Given the description of an element on the screen output the (x, y) to click on. 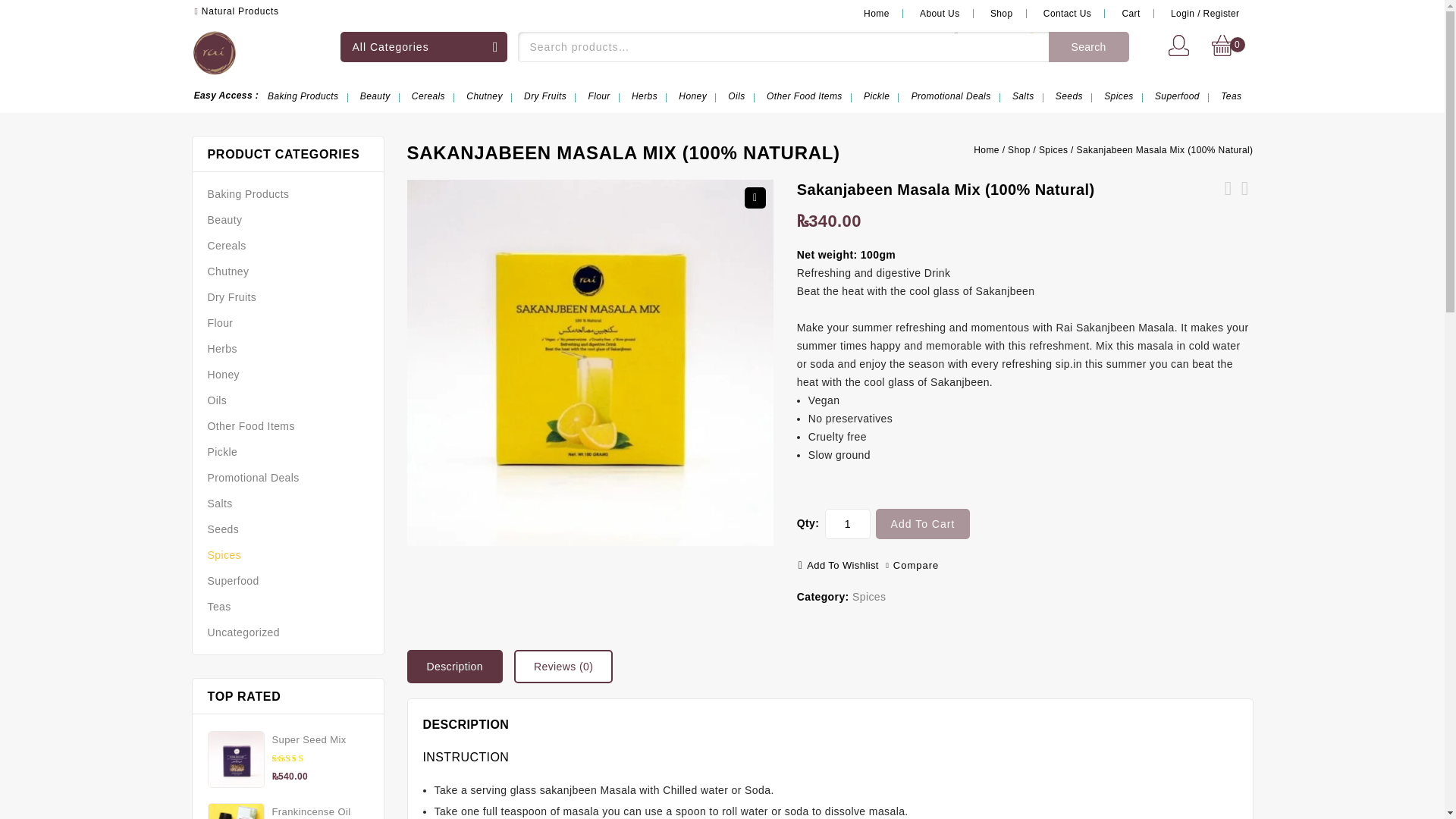
0 (1237, 44)
Qty (847, 523)
View your shopping cart (1226, 49)
Home (876, 13)
Cereals (428, 95)
Beauty (374, 95)
About Us (939, 13)
RAI (212, 50)
Search (1088, 46)
Chutney (484, 95)
Cart (1130, 13)
1 (847, 523)
Contact Us (1067, 13)
Baking Products (303, 95)
